Given the description of an element on the screen output the (x, y) to click on. 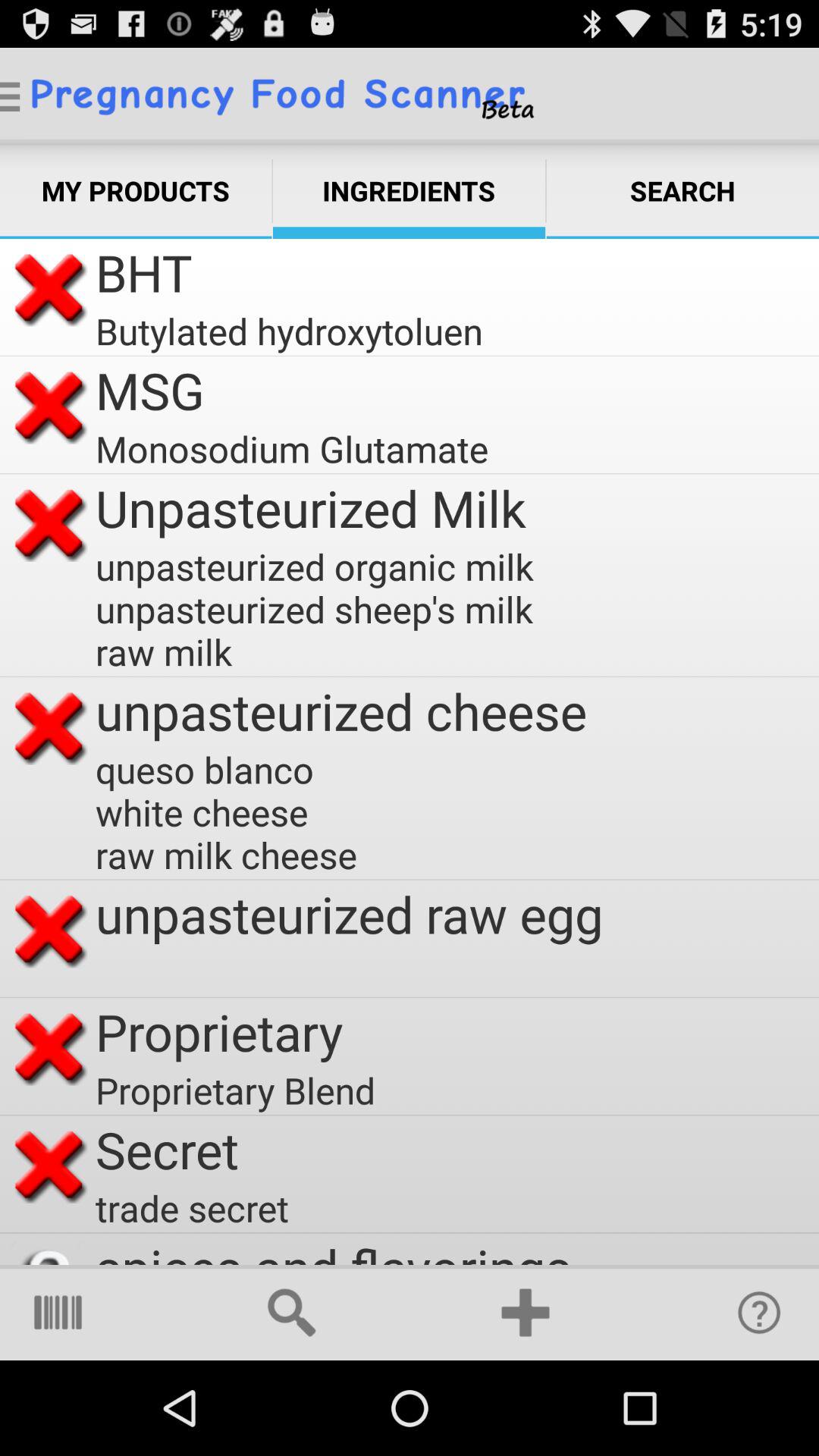
scroll until the spices and flavorings item (333, 1248)
